Given the description of an element on the screen output the (x, y) to click on. 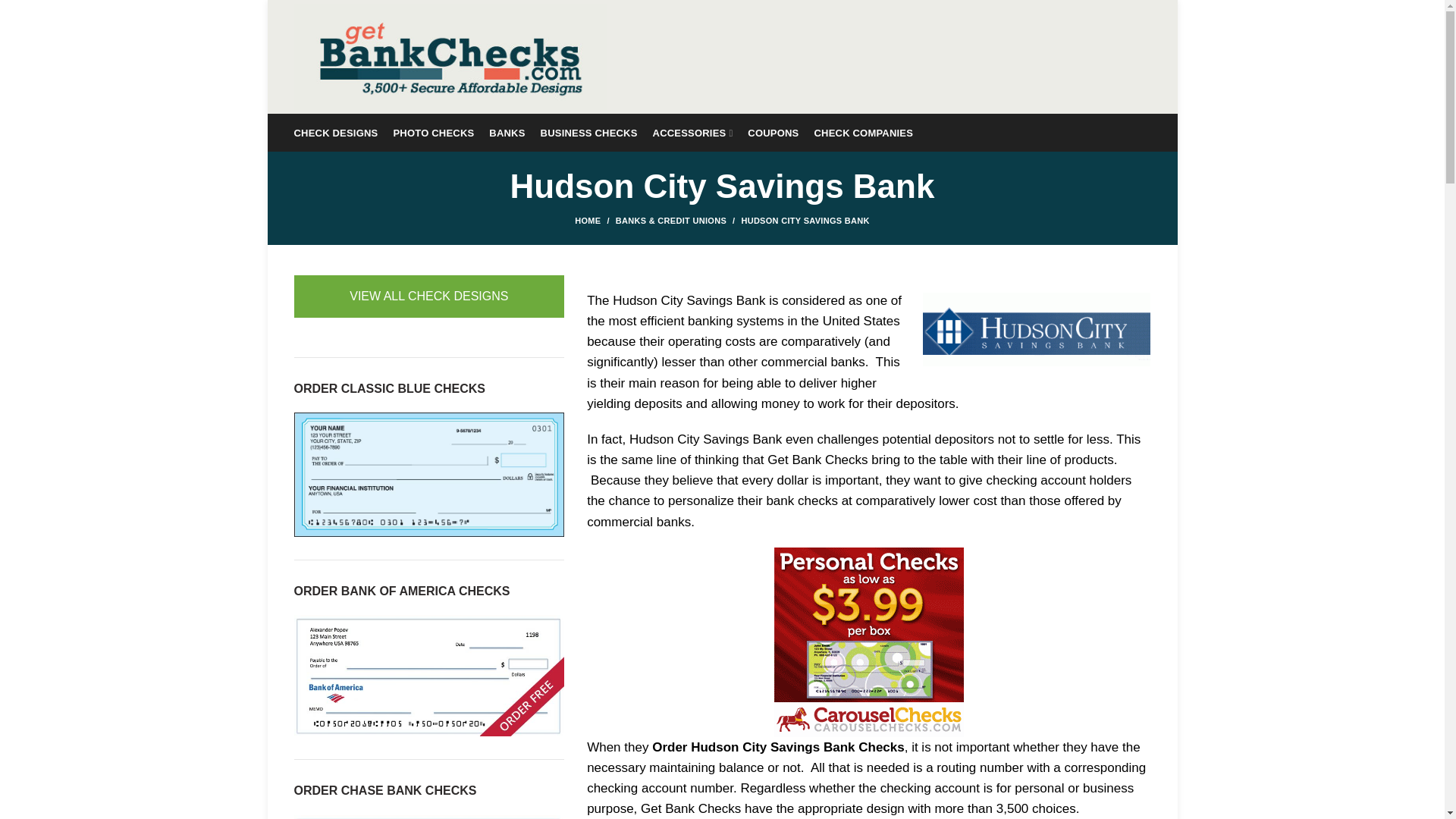
VIEW ALL CHECK DESIGNS (429, 296)
HOME (595, 220)
CHECK COMPANIES (863, 132)
CHECK DESIGNS (335, 132)
PHOTO CHECKS (433, 132)
COUPONS (772, 132)
BUSINESS CHECKS (588, 132)
ACCESSORIES (693, 132)
BANKS (506, 132)
